Given the description of an element on the screen output the (x, y) to click on. 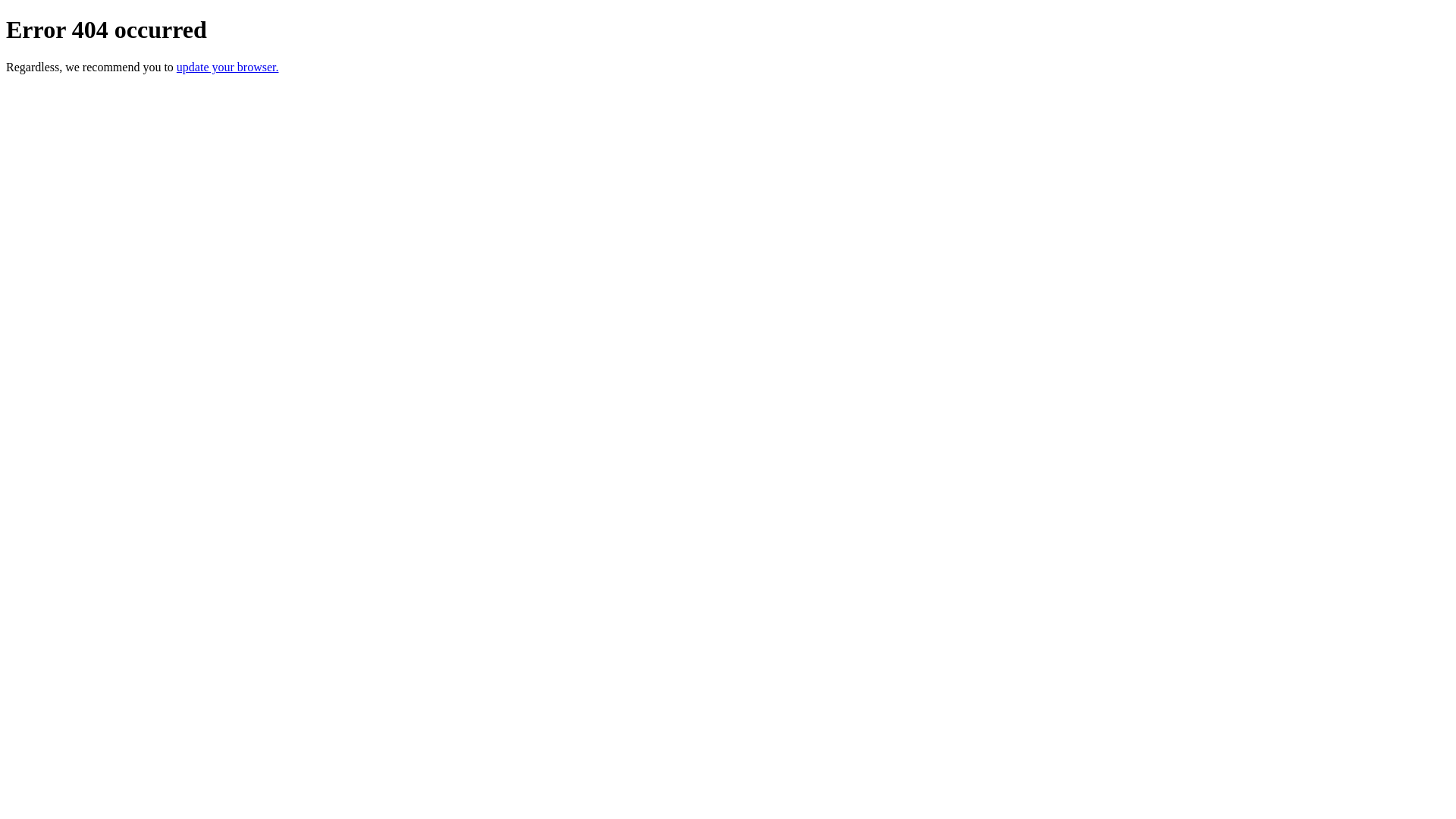
update your browser. Element type: text (227, 66)
